Given the description of an element on the screen output the (x, y) to click on. 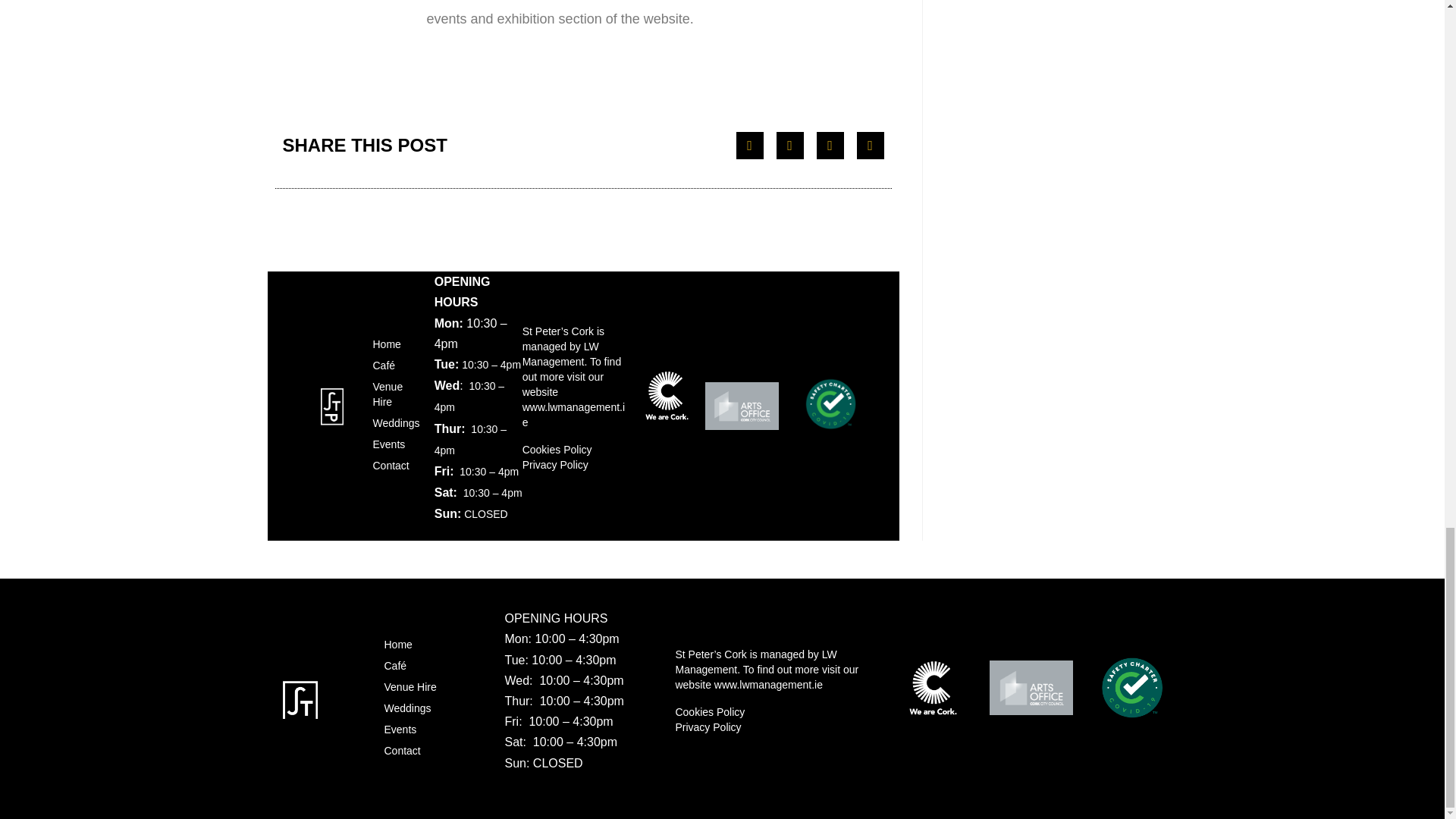
Events (394, 444)
Home (394, 343)
Weddings (394, 423)
Venue Hire (394, 393)
